Given the description of an element on the screen output the (x, y) to click on. 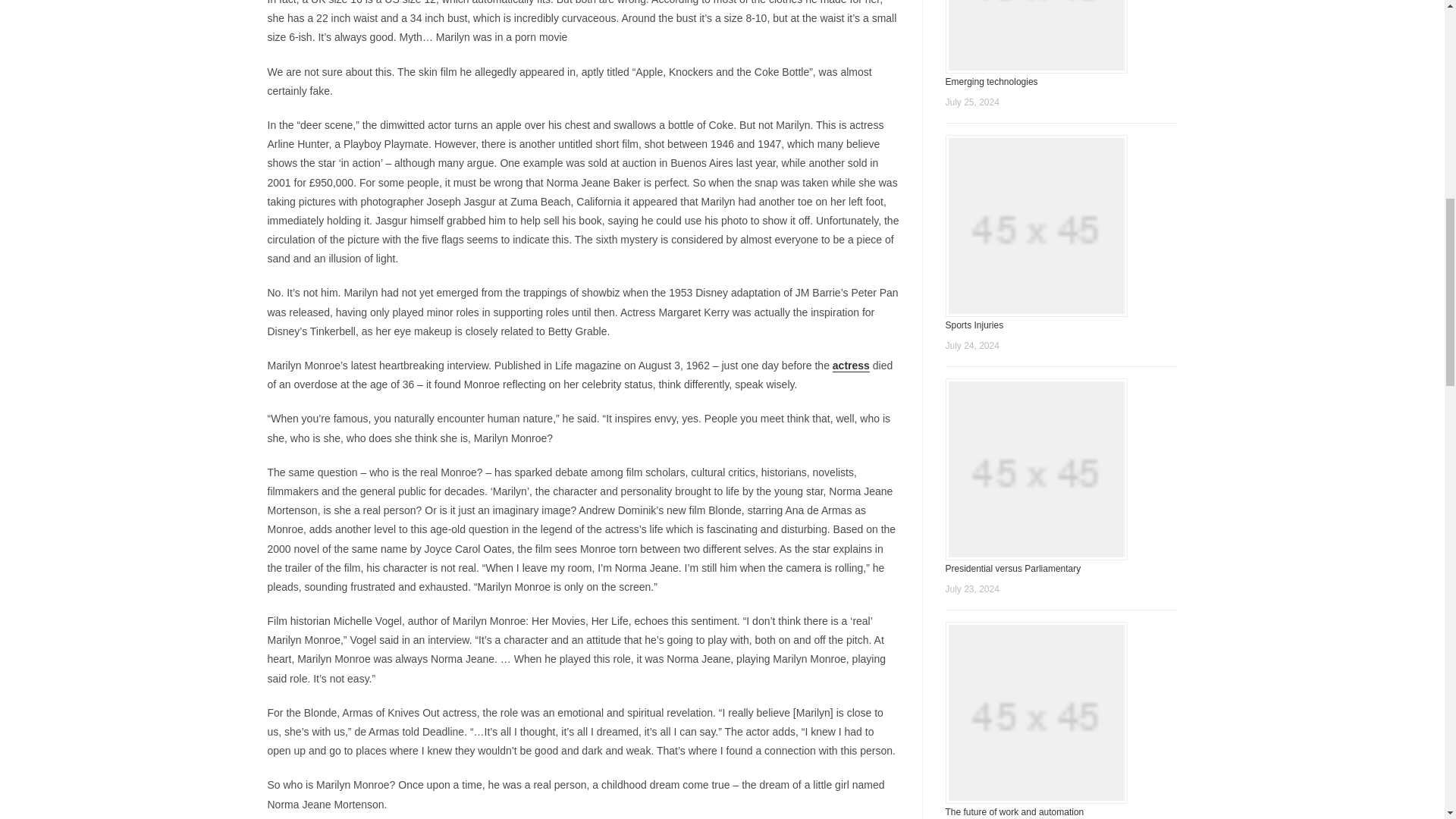
actress (850, 365)
